Given the description of an element on the screen output the (x, y) to click on. 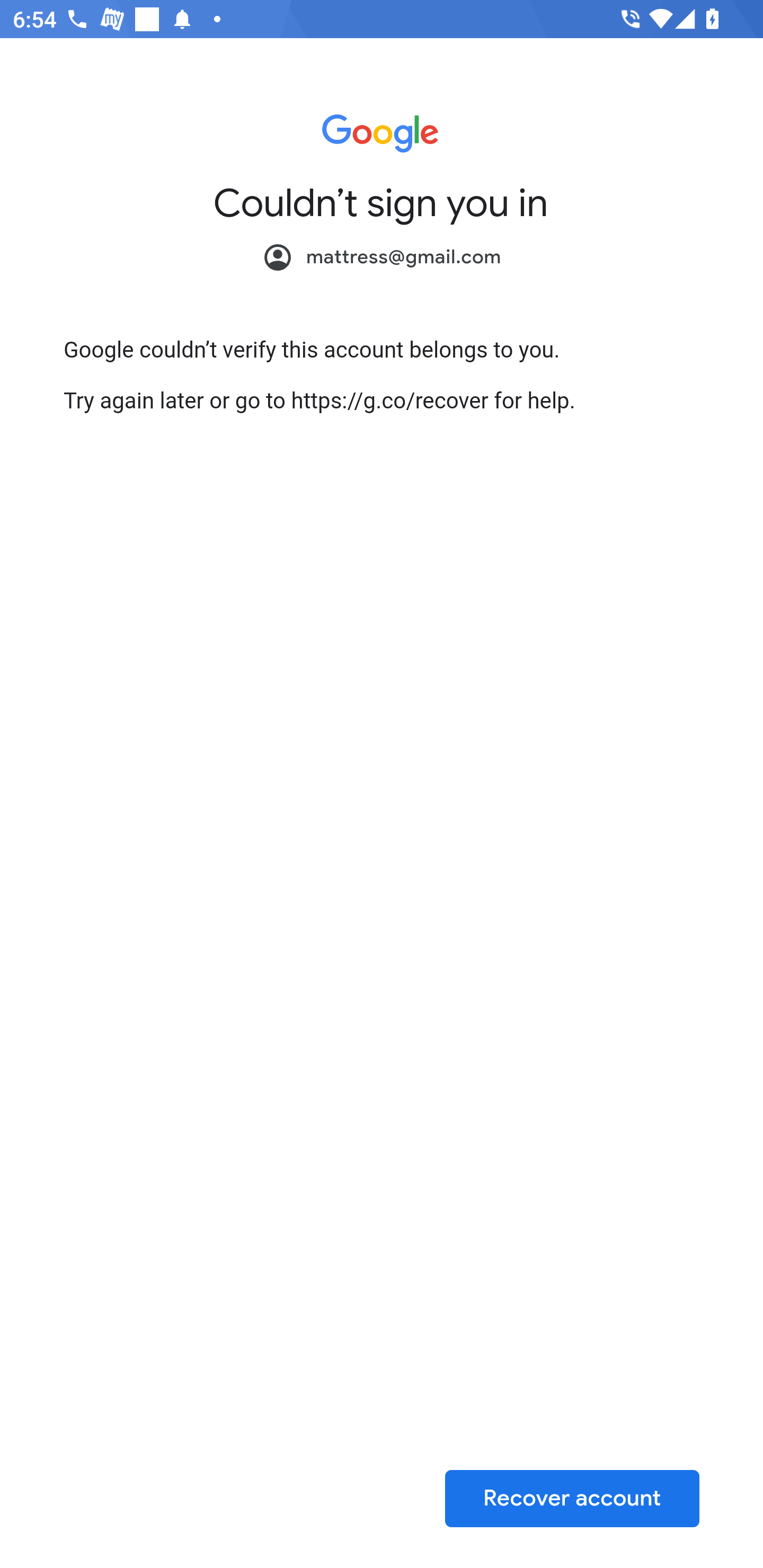
Recover account (571, 1497)
